Given the description of an element on the screen output the (x, y) to click on. 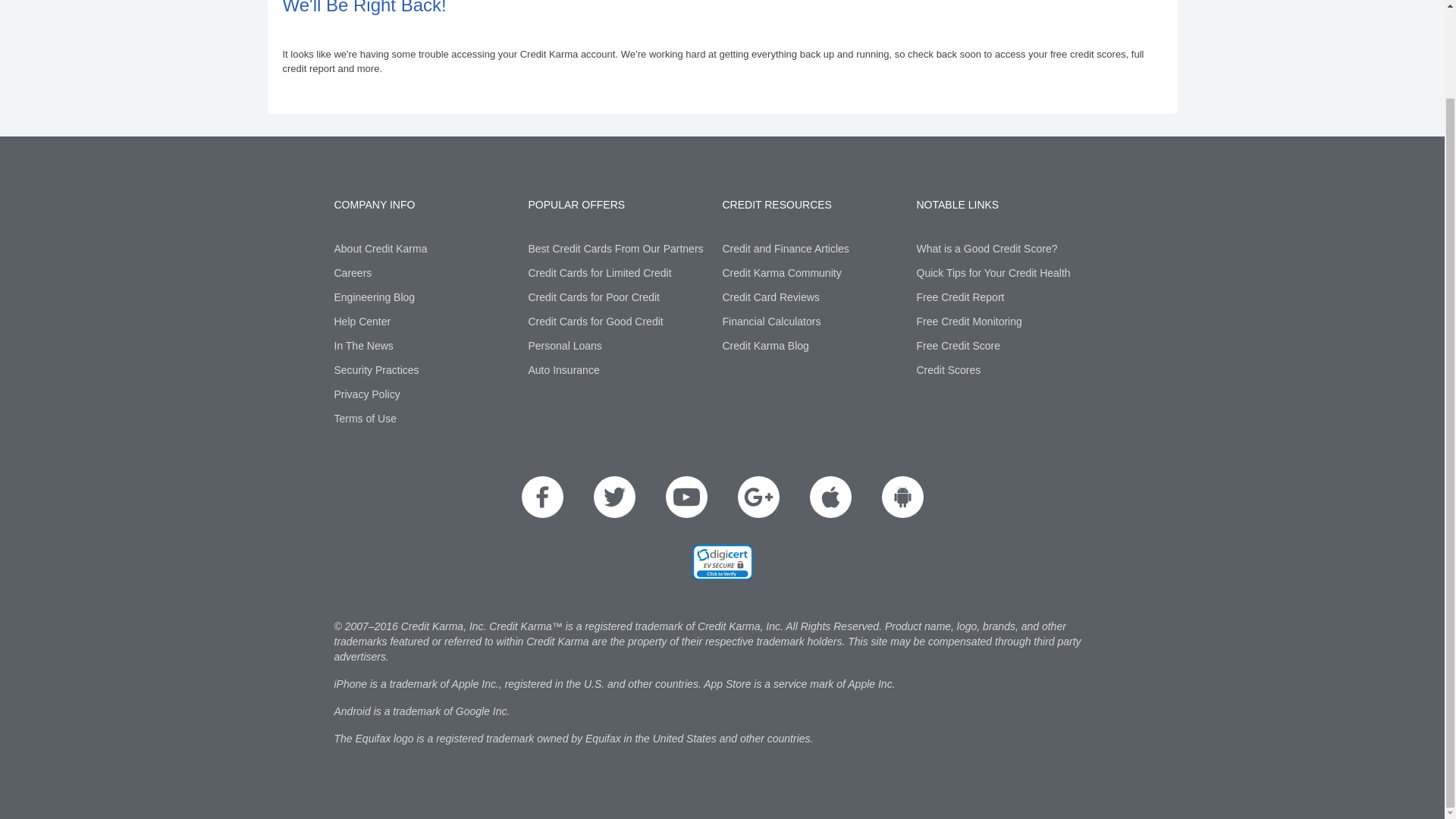
Download Android App (901, 496)
YouTube (686, 496)
Download iOS App (830, 496)
Google Plus (757, 496)
Facebook (542, 496)
Twitter (613, 496)
